Given the description of an element on the screen output the (x, y) to click on. 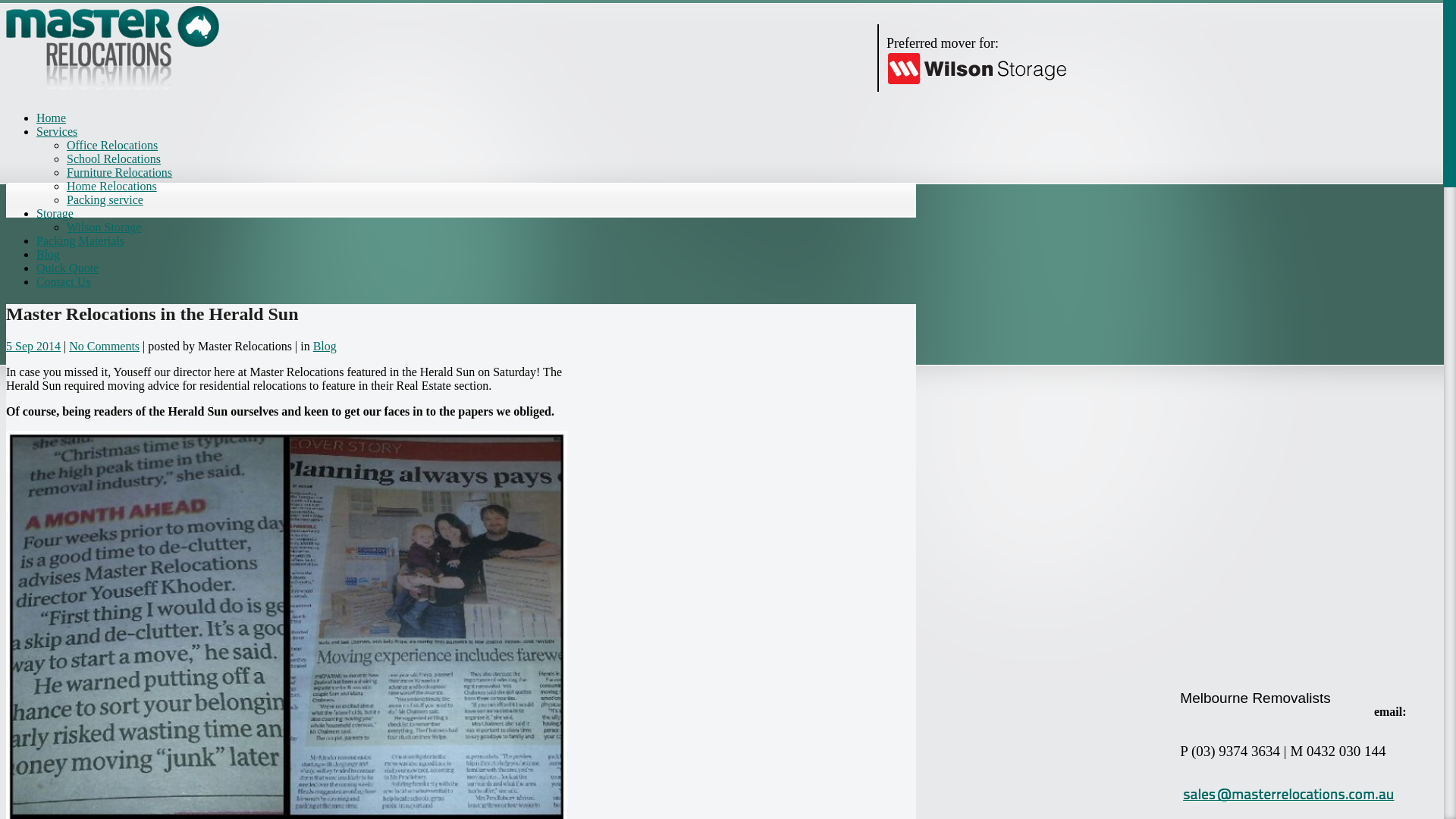
Quick Quote Element type: text (67, 267)
5 Sep 2014 Element type: text (33, 345)
Packing Materials Element type: text (80, 240)
Office Relocations Element type: text (111, 144)
Packing service Element type: text (104, 199)
Home Relocations Element type: text (111, 185)
Wilson Storage Element type: text (103, 226)
Home Element type: text (50, 117)
Blog Element type: text (47, 253)
No Comments Element type: text (104, 345)
Contact Us Element type: text (63, 281)
School Relocations Element type: text (113, 158)
Master Relocations in the Herald Sun Element type: text (152, 313)
Services Element type: text (56, 131)
Storage Element type: text (54, 213)
Blog Element type: text (324, 345)
Furniture Relocations Element type: text (119, 172)
